Given the description of an element on the screen output the (x, y) to click on. 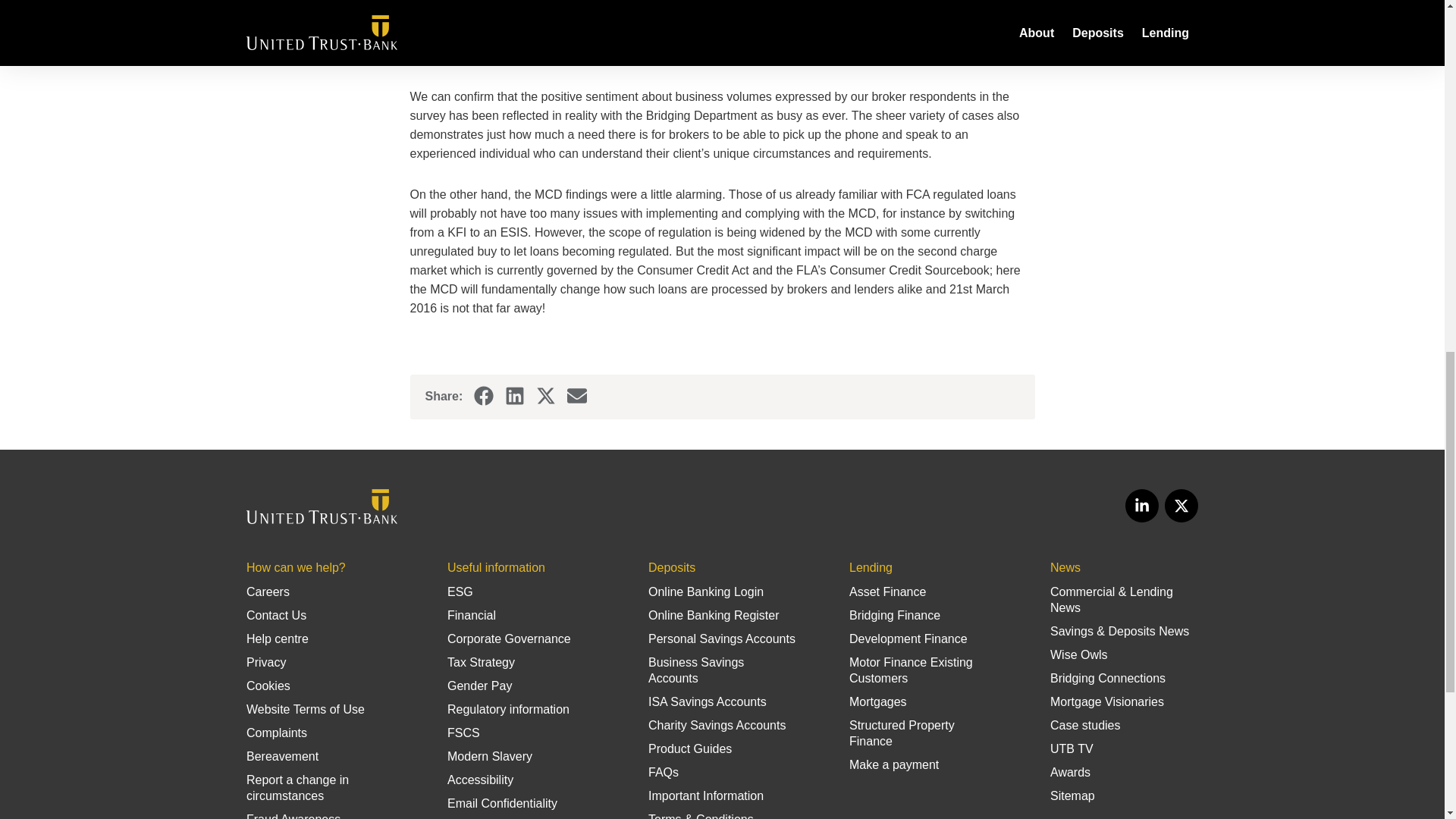
Report a change in circumstances (297, 787)
Contact Us (275, 615)
Privacy (265, 662)
Bereavement (282, 756)
Envelope (576, 396)
LinkedIn (1141, 505)
LinkedIn (514, 395)
LinkedIn (1142, 505)
Facebook (483, 396)
United Bank Trust logo (321, 506)
Envelope (576, 395)
Website Terms of Use (305, 708)
LinkedIn (514, 396)
Cookies (267, 685)
Help centre (277, 638)
